Given the description of an element on the screen output the (x, y) to click on. 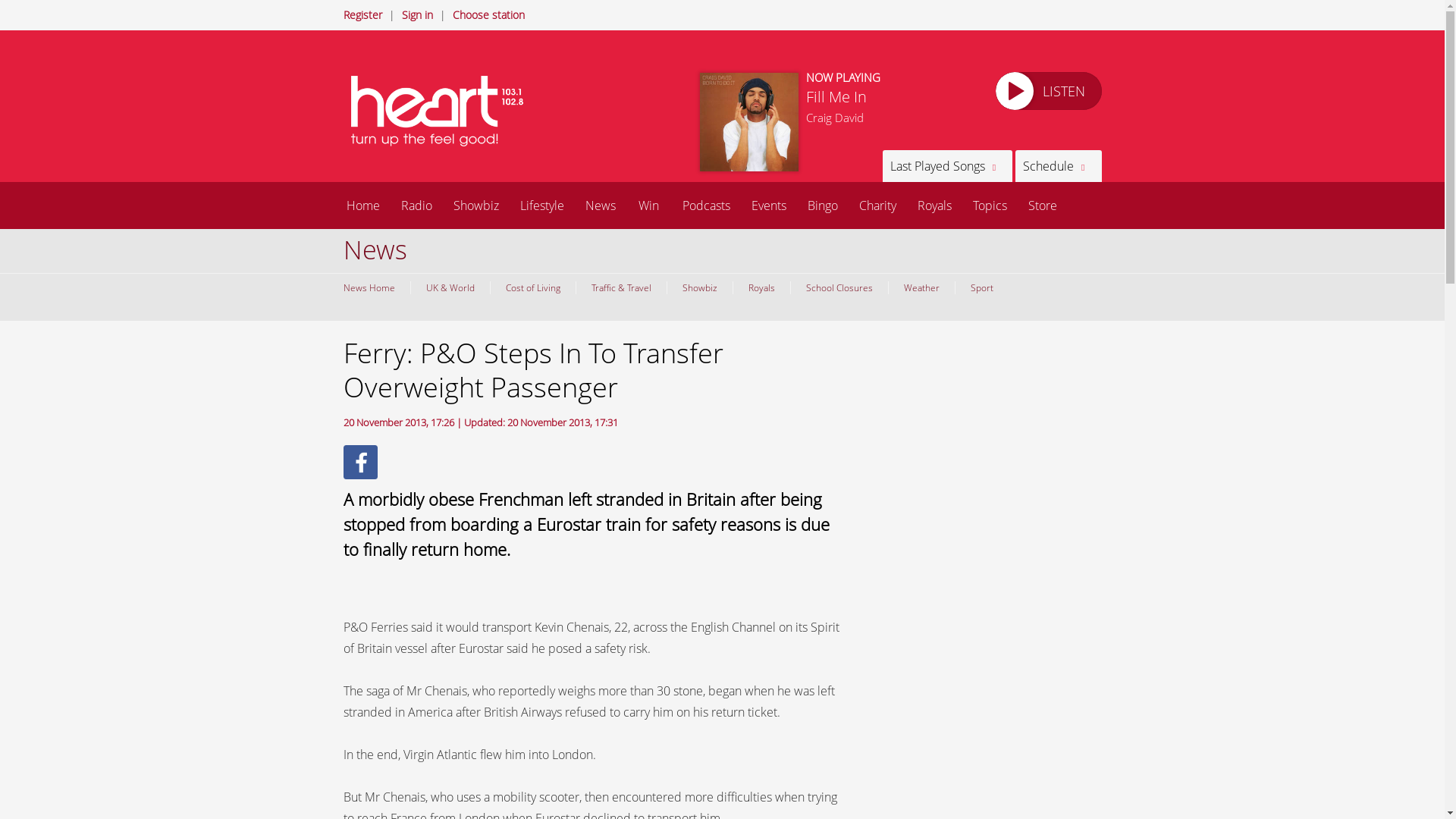
Charity (876, 205)
Schedule (1057, 165)
Lifestyle (542, 205)
Last Played Songs (946, 165)
Store (1042, 205)
Podcasts (706, 205)
Cost of Living (532, 287)
Register (361, 14)
Choose station (487, 14)
Radio (416, 205)
